Given the description of an element on the screen output the (x, y) to click on. 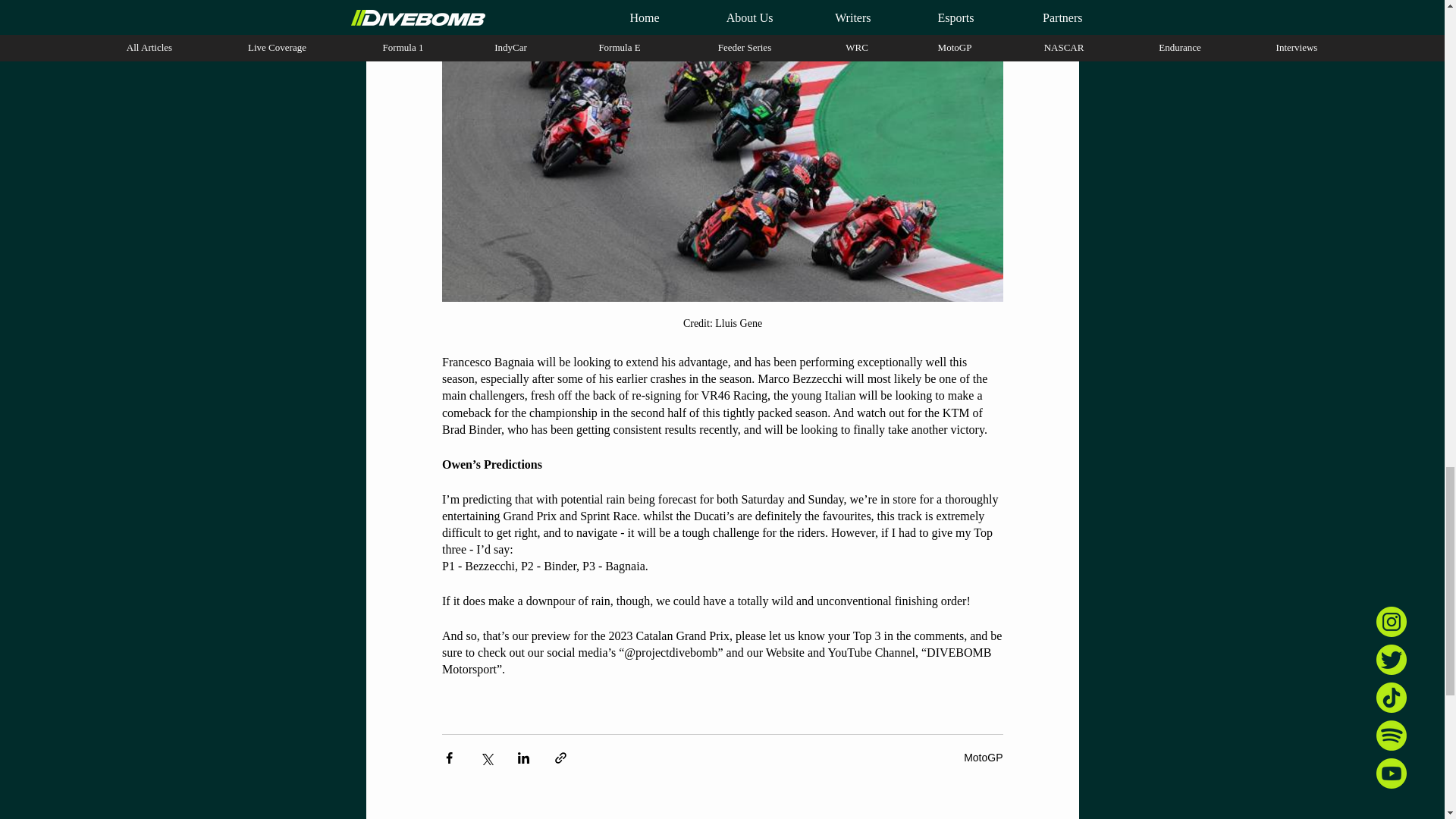
MotoGP (983, 757)
